Given the description of an element on the screen output the (x, y) to click on. 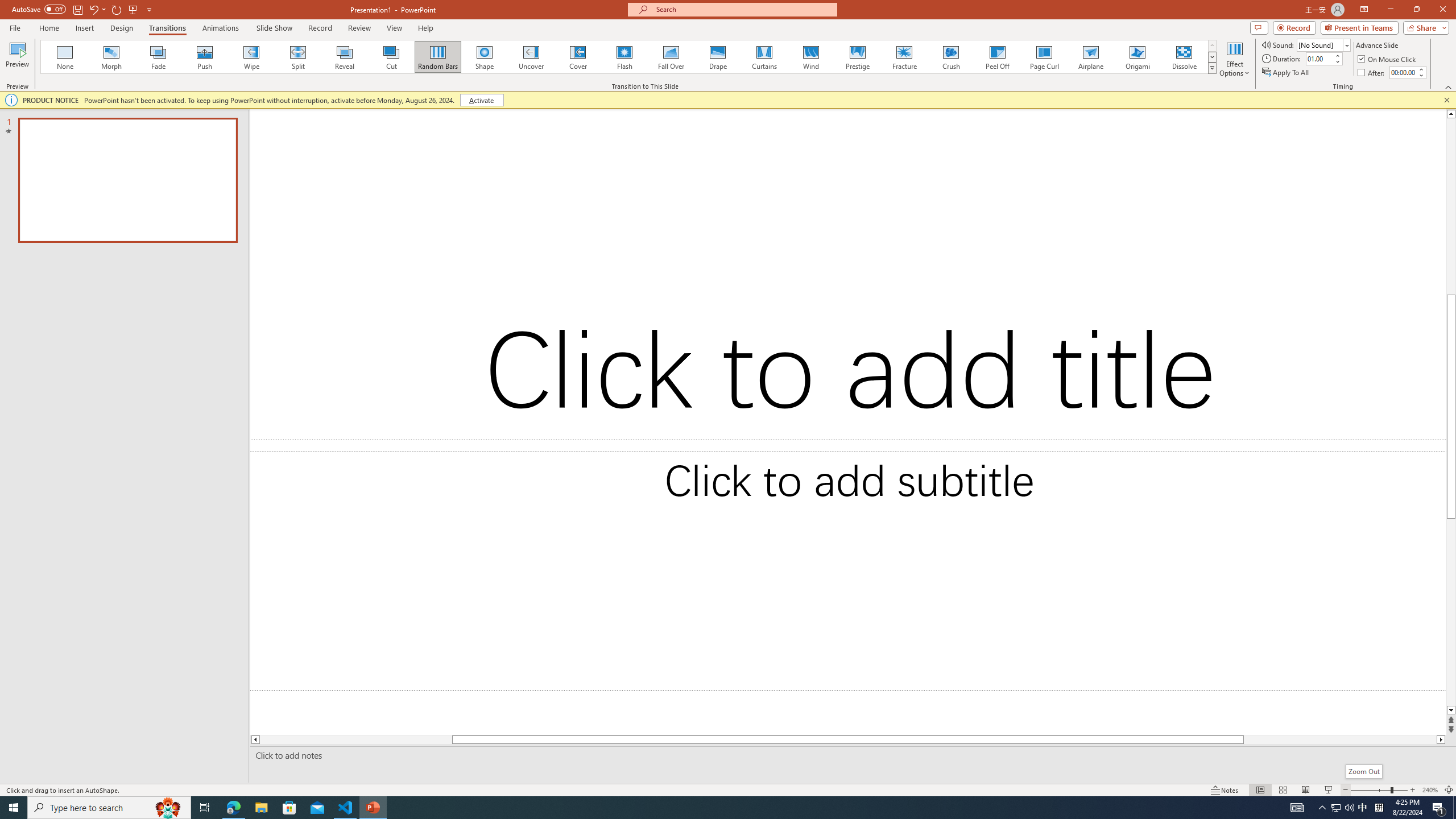
Effect Options (1234, 58)
Drape (717, 56)
Fracture (903, 56)
Reveal (344, 56)
Close this message (1446, 99)
